Given the description of an element on the screen output the (x, y) to click on. 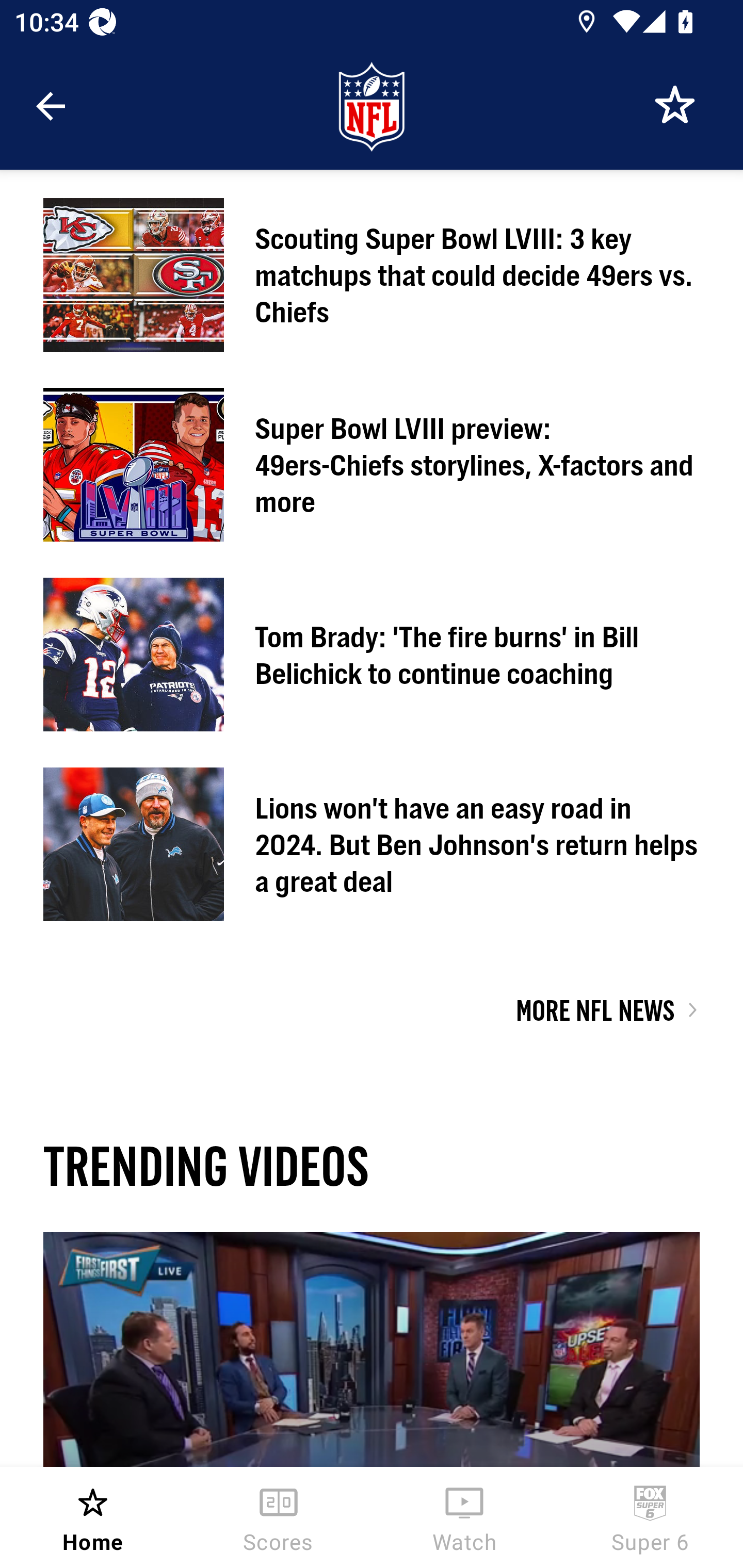
Navigate up (50, 106)
MORE NFL NEWS (594, 1010)
Scores (278, 1517)
Watch (464, 1517)
Super 6 (650, 1517)
